Given the description of an element on the screen output the (x, y) to click on. 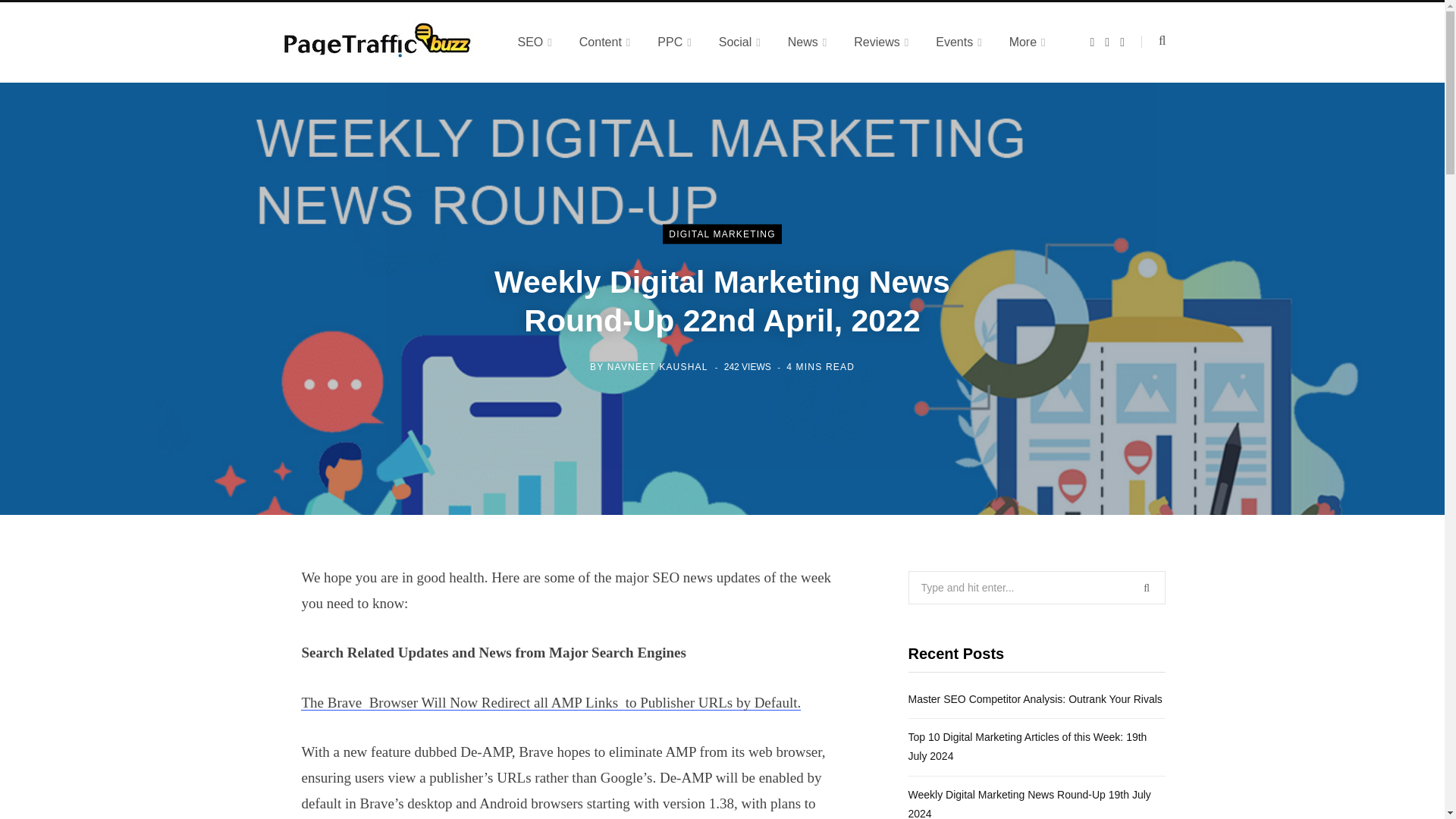
SEO (533, 41)
